Given the description of an element on the screen output the (x, y) to click on. 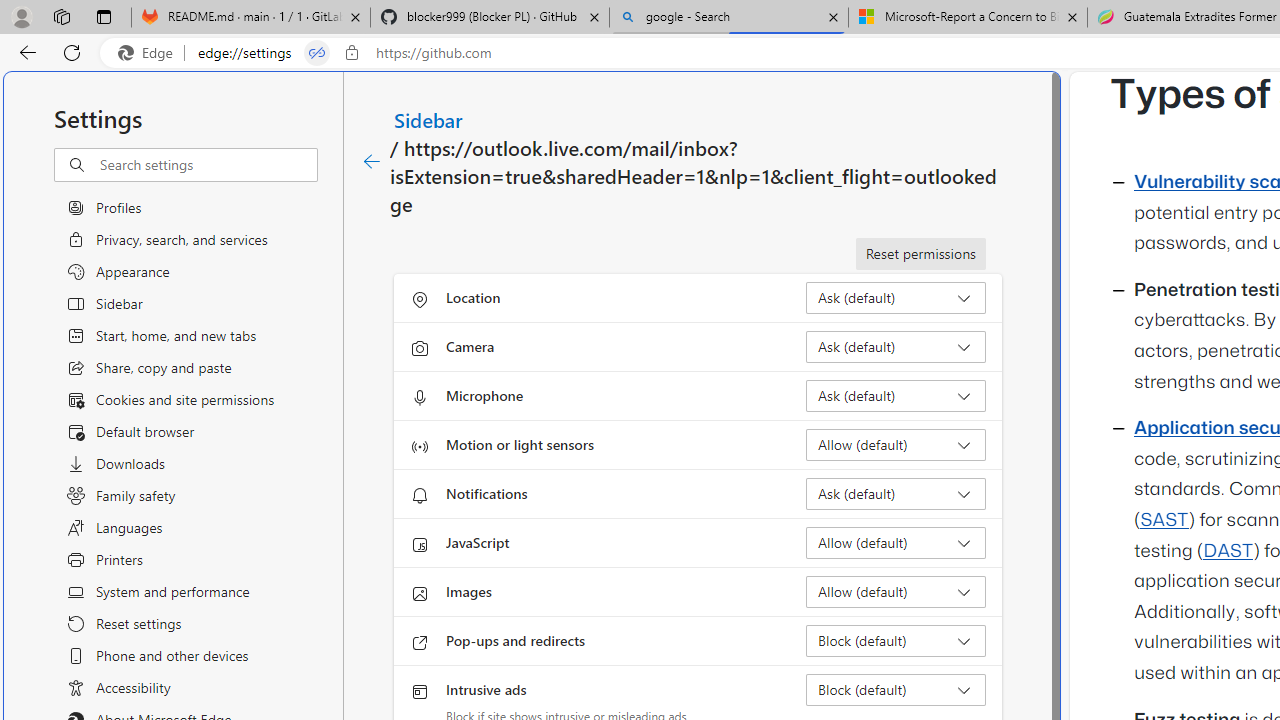
Motion or light sensors Allow (default) (895, 444)
Reset permissions (920, 254)
View site information (351, 53)
Workspaces (61, 16)
Close tab (1072, 16)
Class: c01182 (371, 161)
Camera Ask (default) (895, 346)
Refresh (72, 52)
google - Search (729, 17)
Edge (150, 53)
Notifications Ask (default) (895, 493)
Tabs in split screen (317, 53)
DAST (1228, 551)
